Given the description of an element on the screen output the (x, y) to click on. 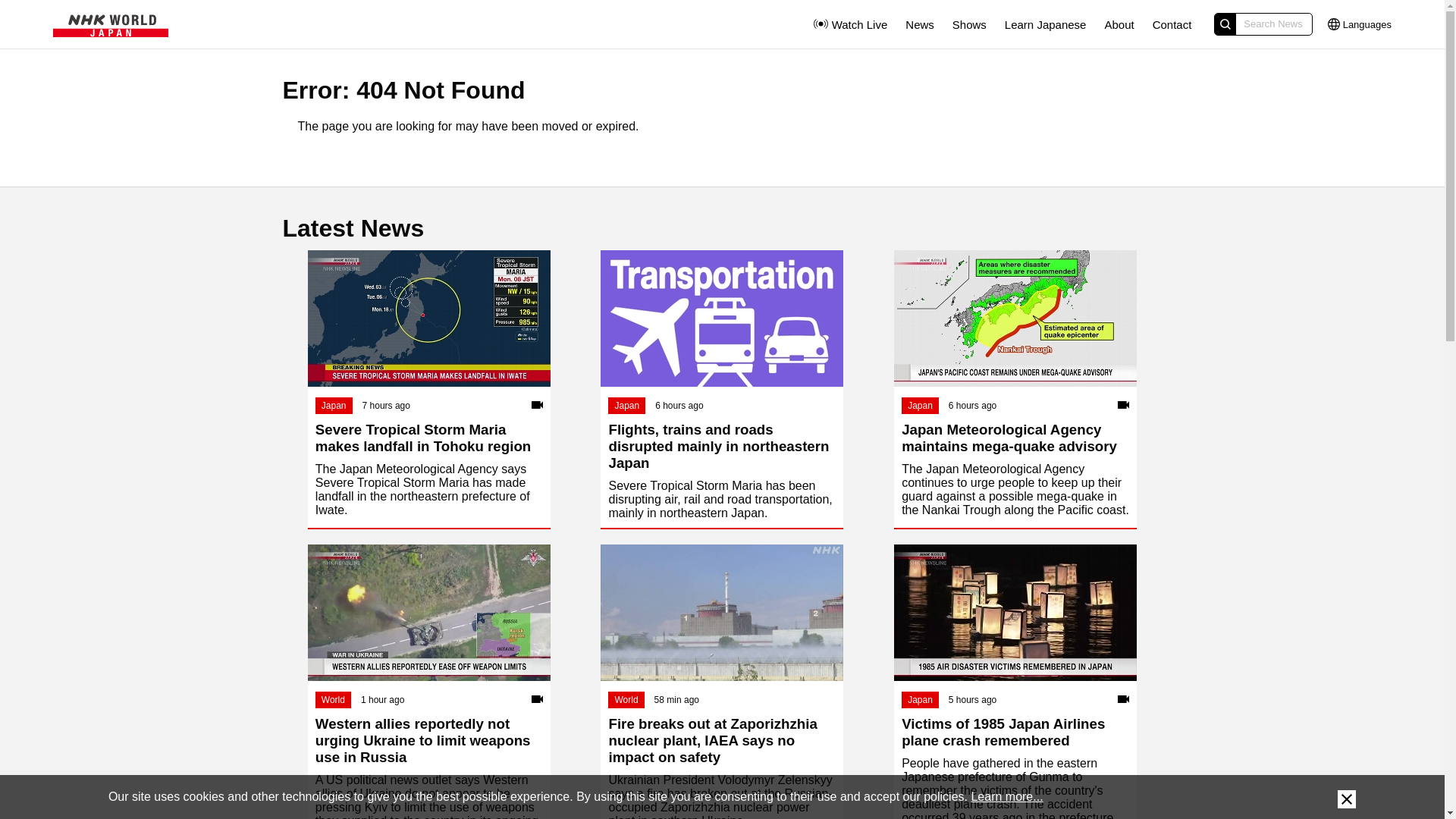
About (1118, 24)
Shows (969, 24)
News (919, 24)
Contact (1172, 24)
Languages (1359, 24)
Watch Live (848, 24)
Learn Japanese (1045, 24)
Search News (1262, 24)
